Given the description of an element on the screen output the (x, y) to click on. 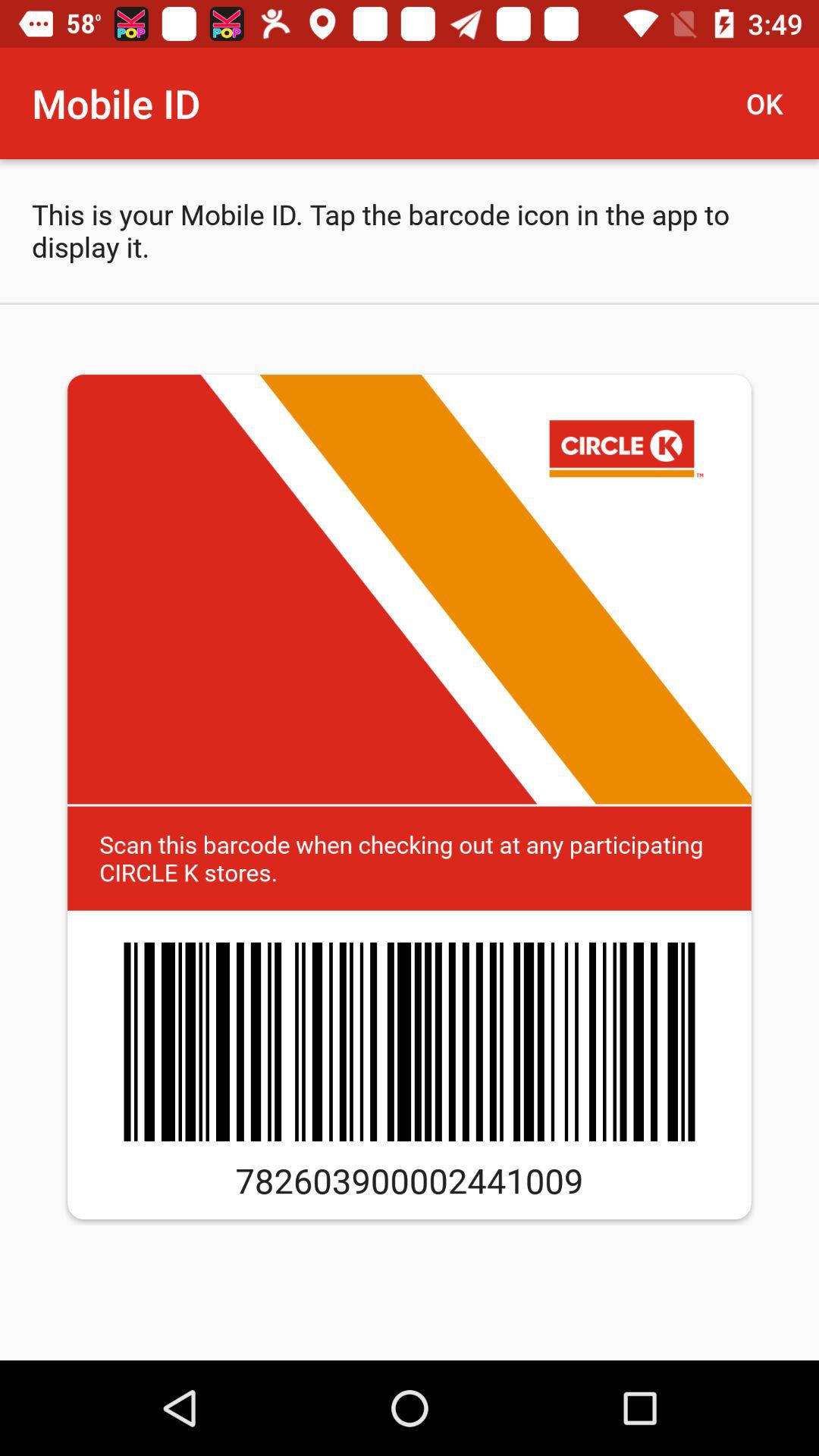
choose the icon to the right of mobile id icon (771, 103)
